Given the description of an element on the screen output the (x, y) to click on. 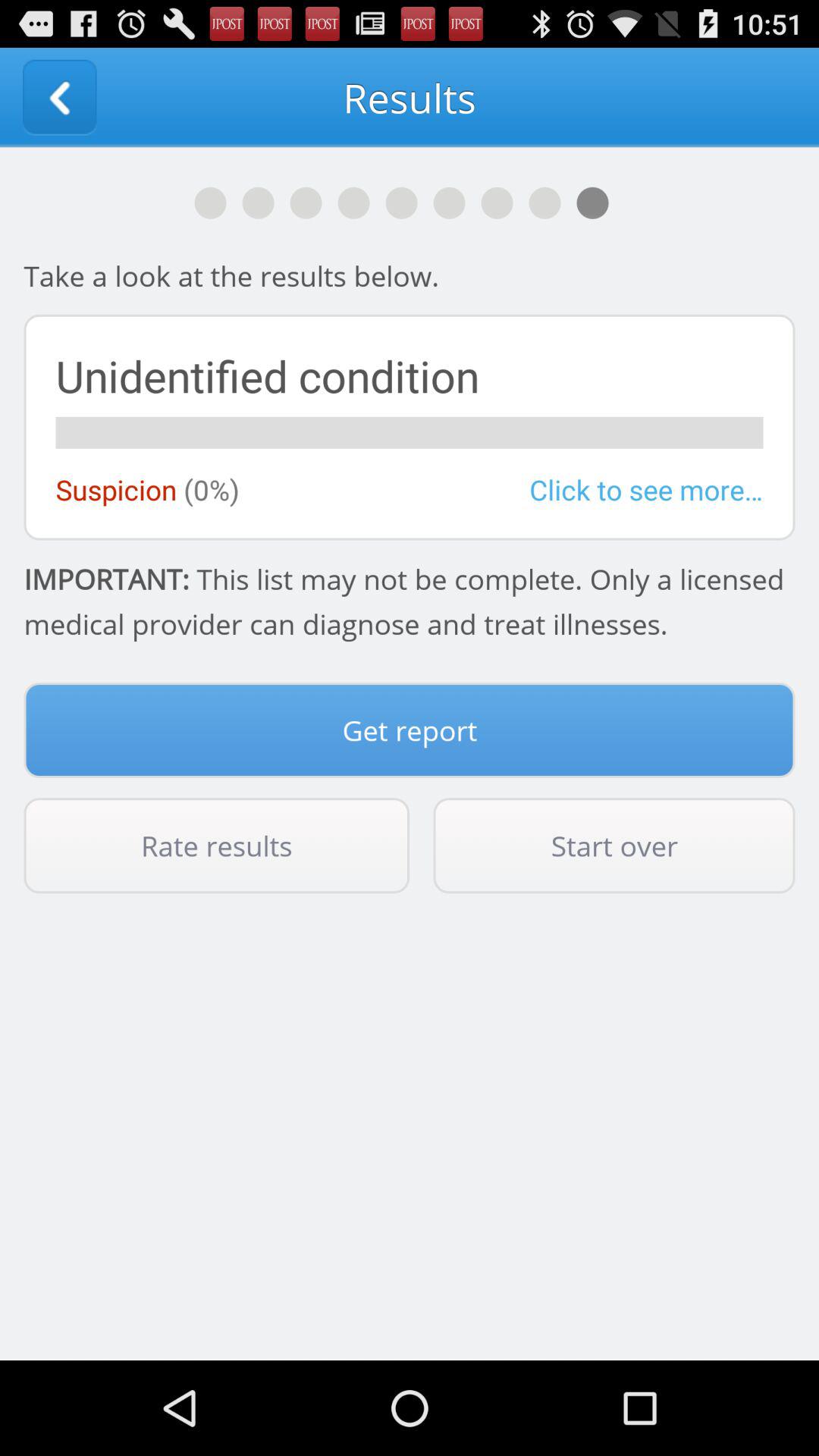
tap start over on the right (614, 845)
